Given the description of an element on the screen output the (x, y) to click on. 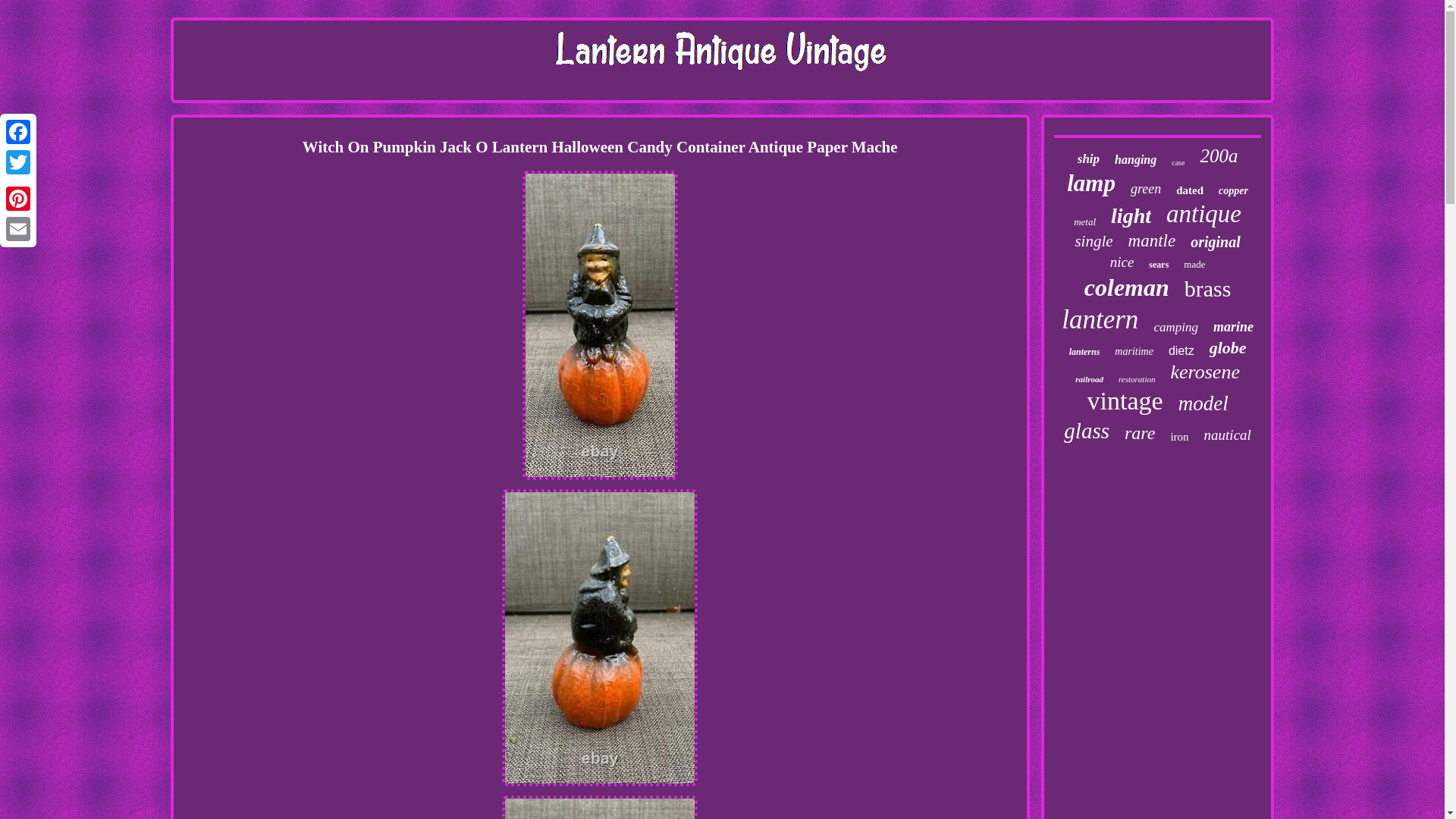
camping (1175, 327)
globe (1227, 347)
Email (17, 228)
railroad (1089, 379)
mantle (1152, 240)
lantern (1099, 319)
light (1130, 215)
sears (1158, 265)
Twitter (17, 162)
ship (1088, 159)
